Given the description of an element on the screen output the (x, y) to click on. 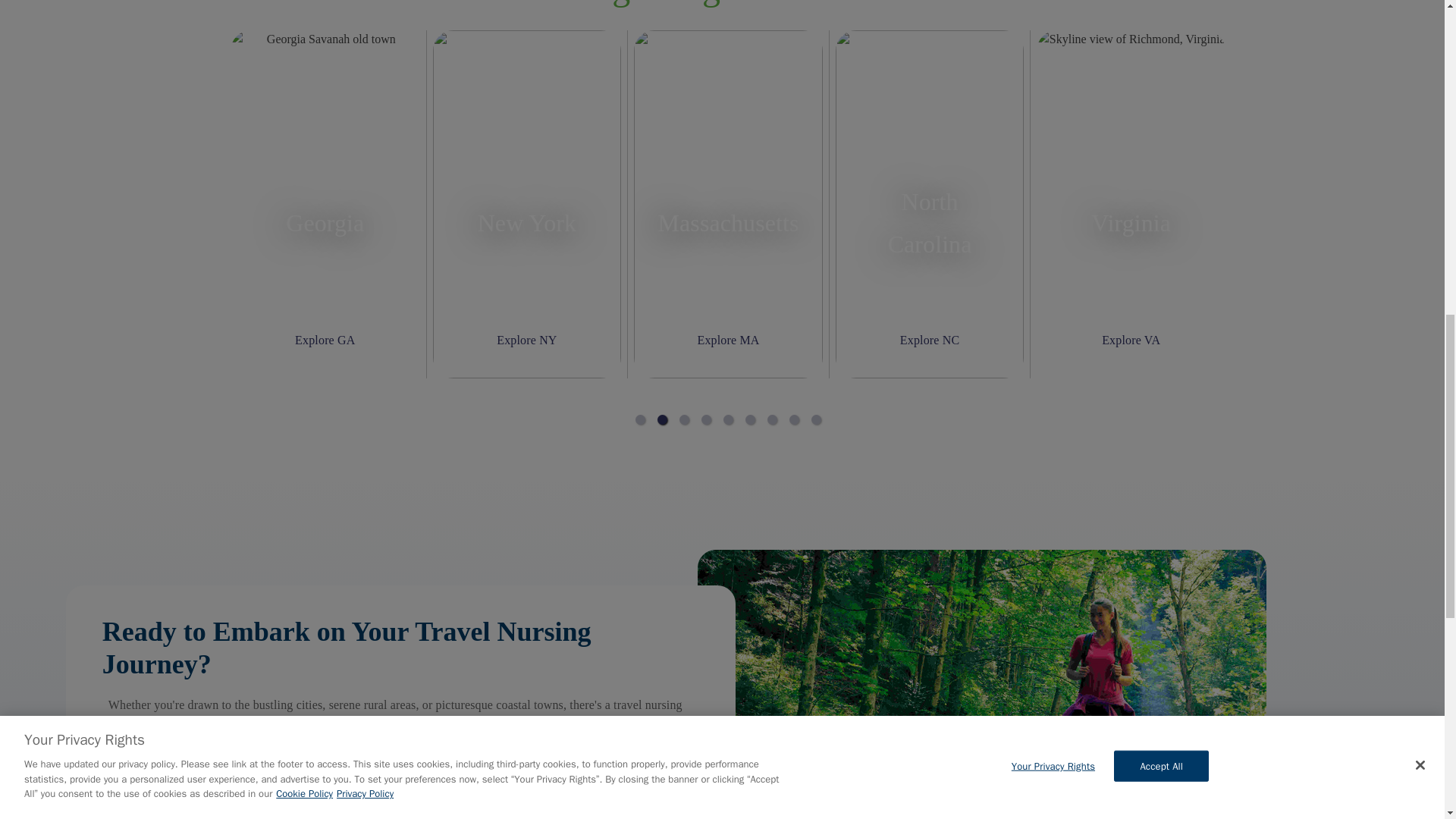
Explore NY (525, 339)
Explore MA (727, 339)
Explore GA (324, 339)
